Given the description of an element on the screen output the (x, y) to click on. 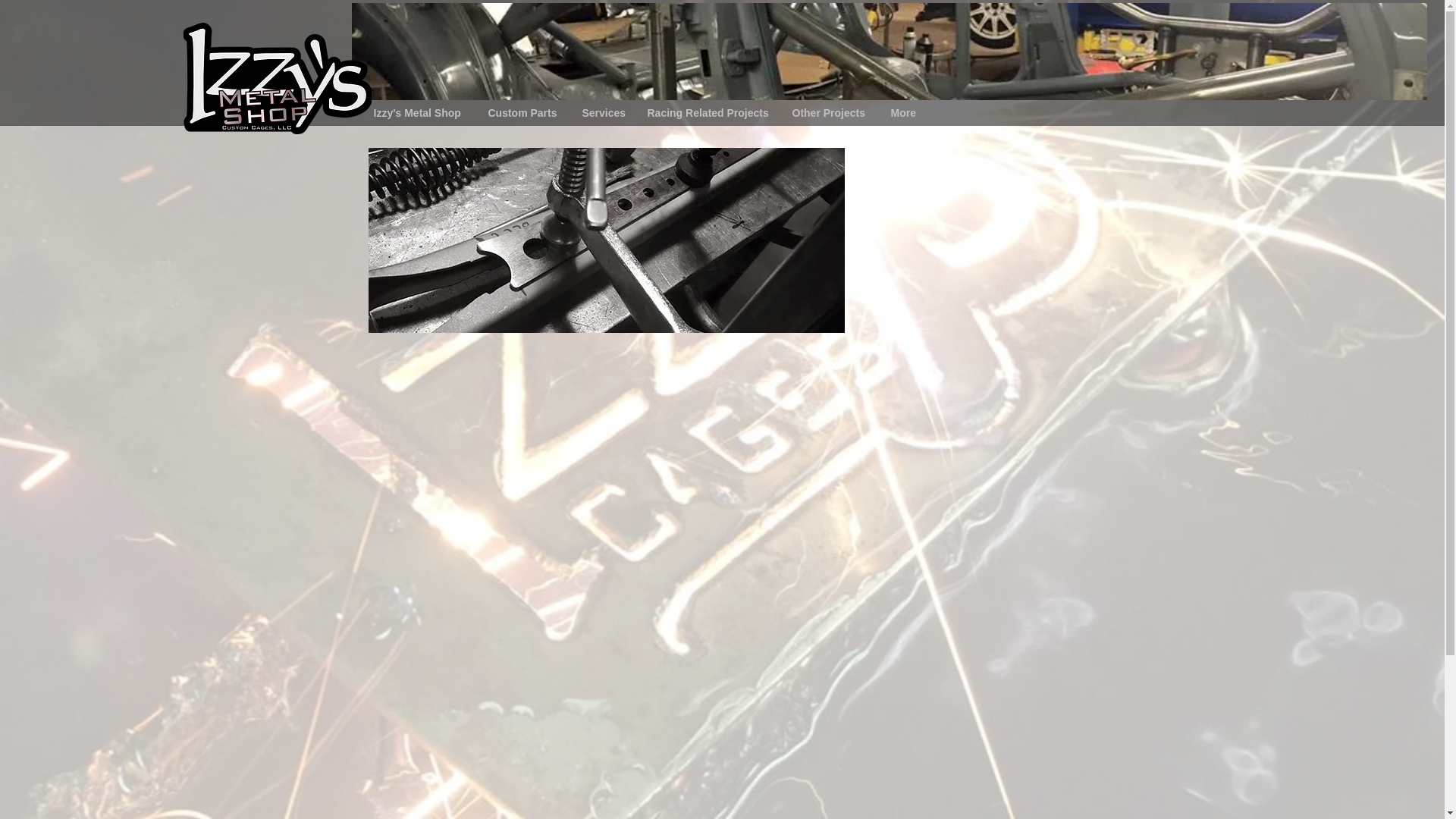
Izzy's Metal Shop (419, 112)
Services (602, 112)
Racing Related Projects (707, 112)
Custom Parts (523, 112)
